Given the description of an element on the screen output the (x, y) to click on. 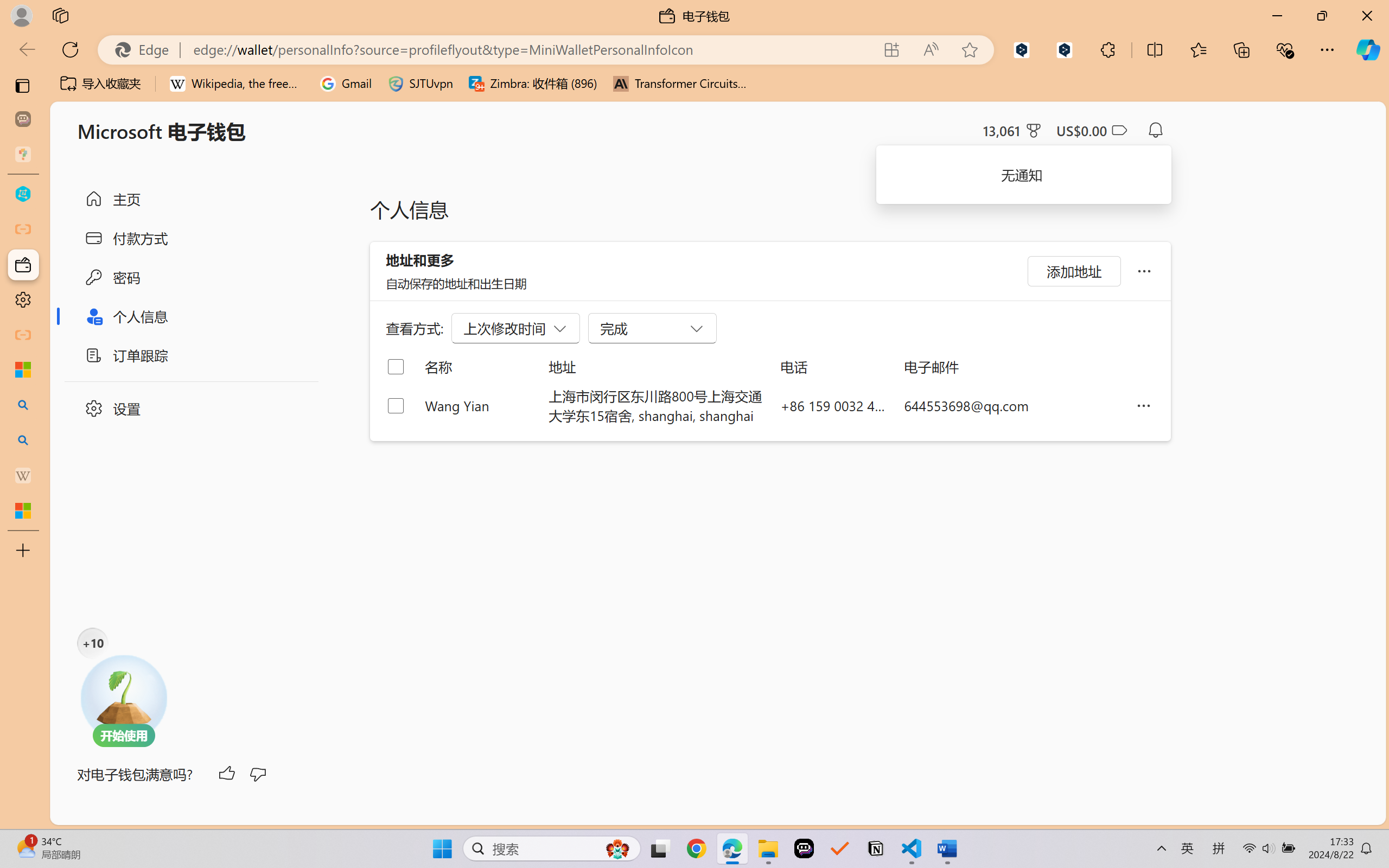
+86 159 0032 4640 (832, 405)
Wikipedia, the free encyclopedia (236, 83)
644553698@qq.com (1011, 405)
